Given the description of an element on the screen output the (x, y) to click on. 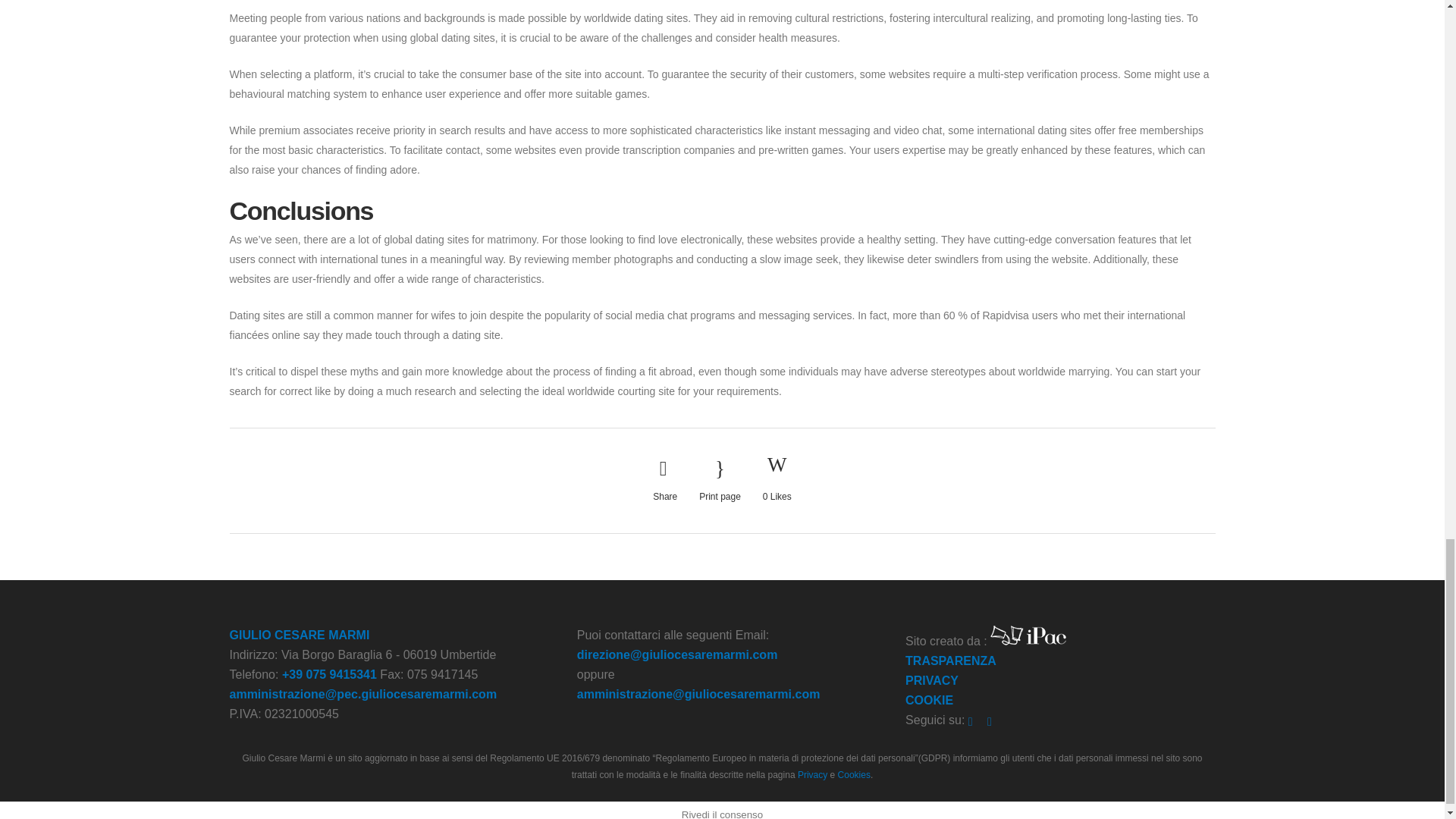
TRASPARENZA (950, 660)
COOKIE (929, 699)
Print page (719, 480)
GIULIO CESARE MARMI (298, 634)
PRIVACY (931, 680)
